Given the description of an element on the screen output the (x, y) to click on. 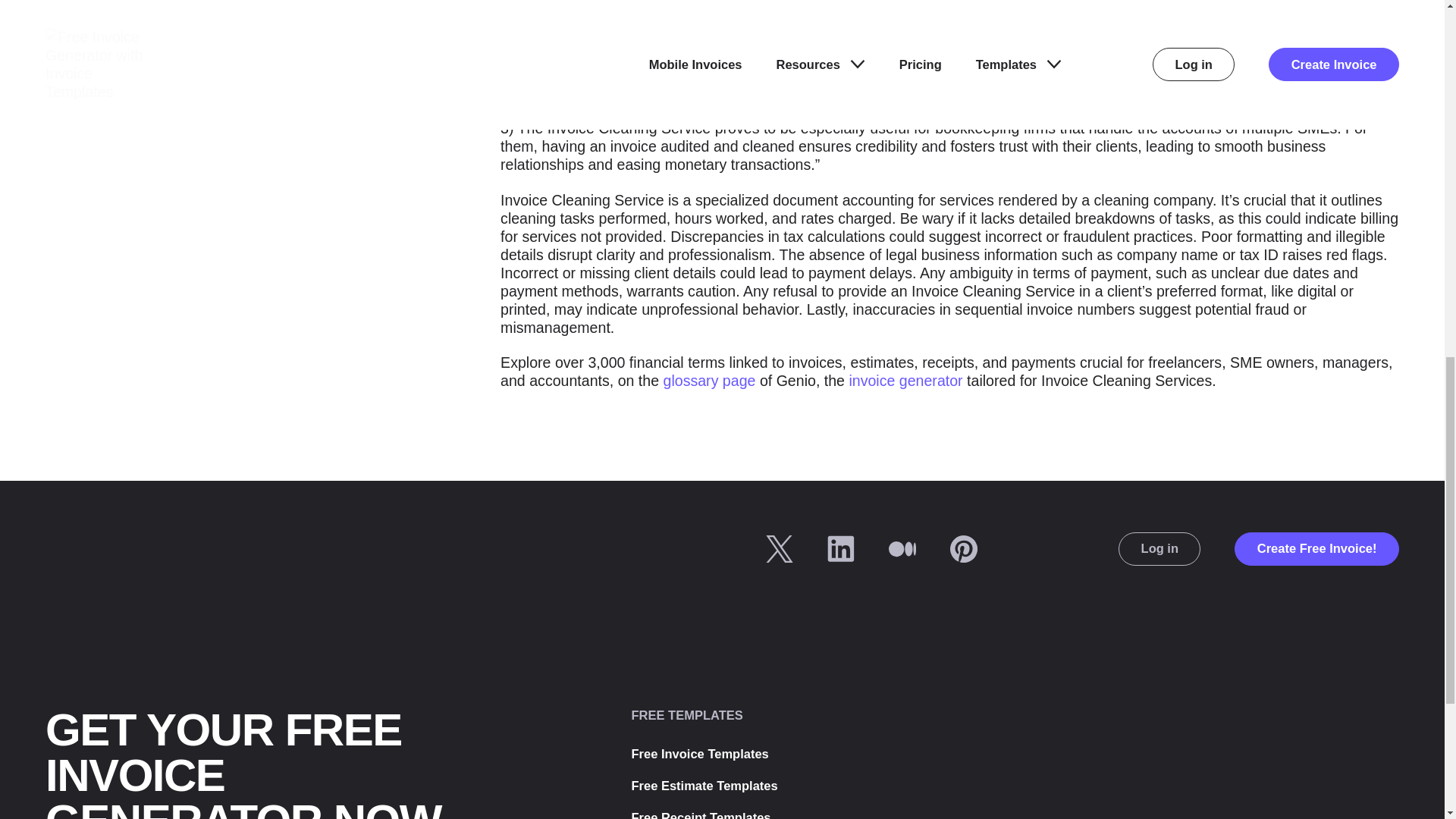
glossary page (709, 380)
